Given the description of an element on the screen output the (x, y) to click on. 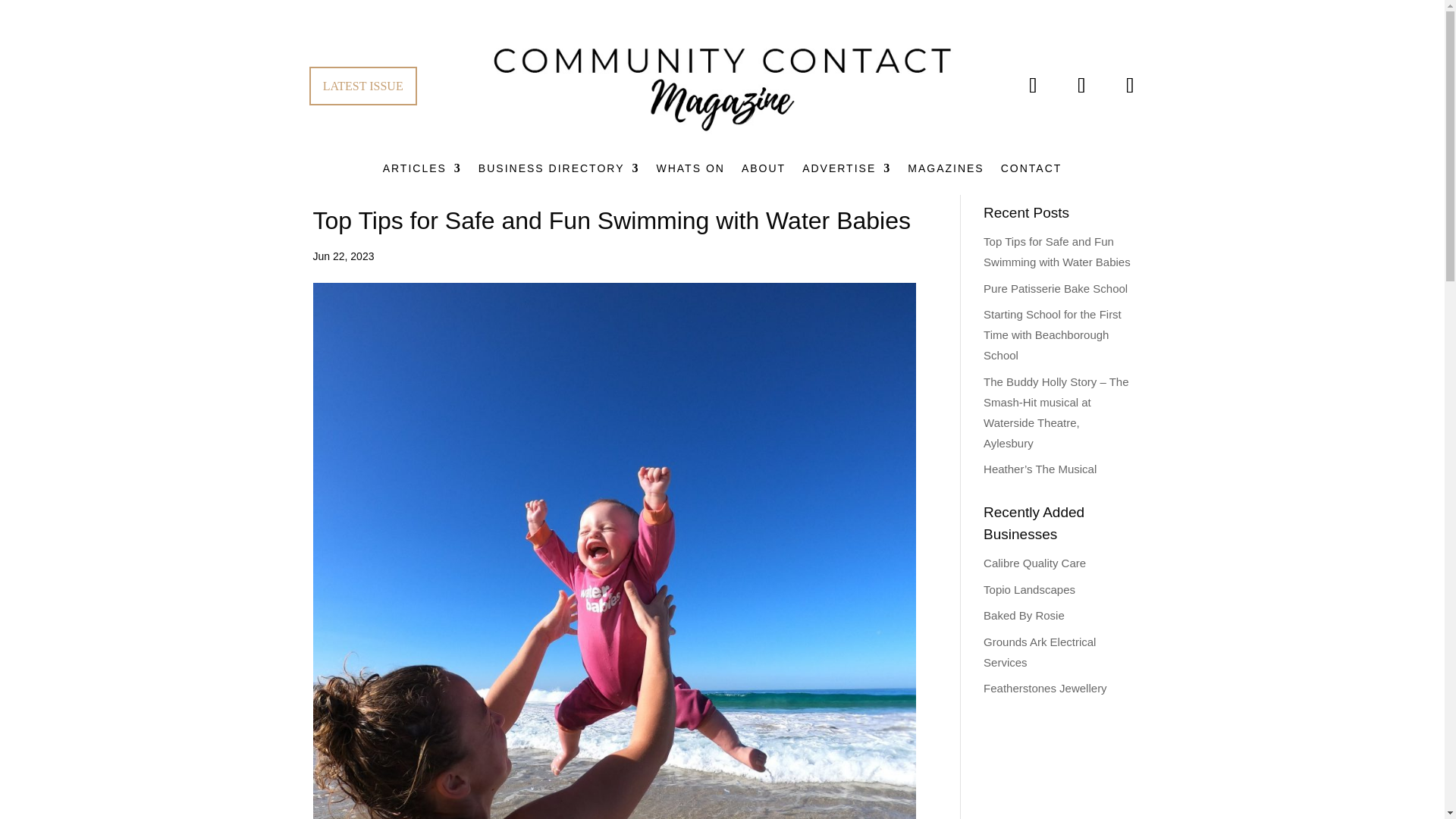
ABOUT (763, 170)
Follow on Instagram (1080, 85)
CONTACT (1031, 170)
LATEST ISSUE (362, 85)
BUSINESS DIRECTORY (559, 170)
MAGAZINES (945, 170)
Follow on Facebook (1032, 85)
ADVERTISE (846, 170)
Follow on X (1129, 85)
ARTICLES (421, 170)
